Given the description of an element on the screen output the (x, y) to click on. 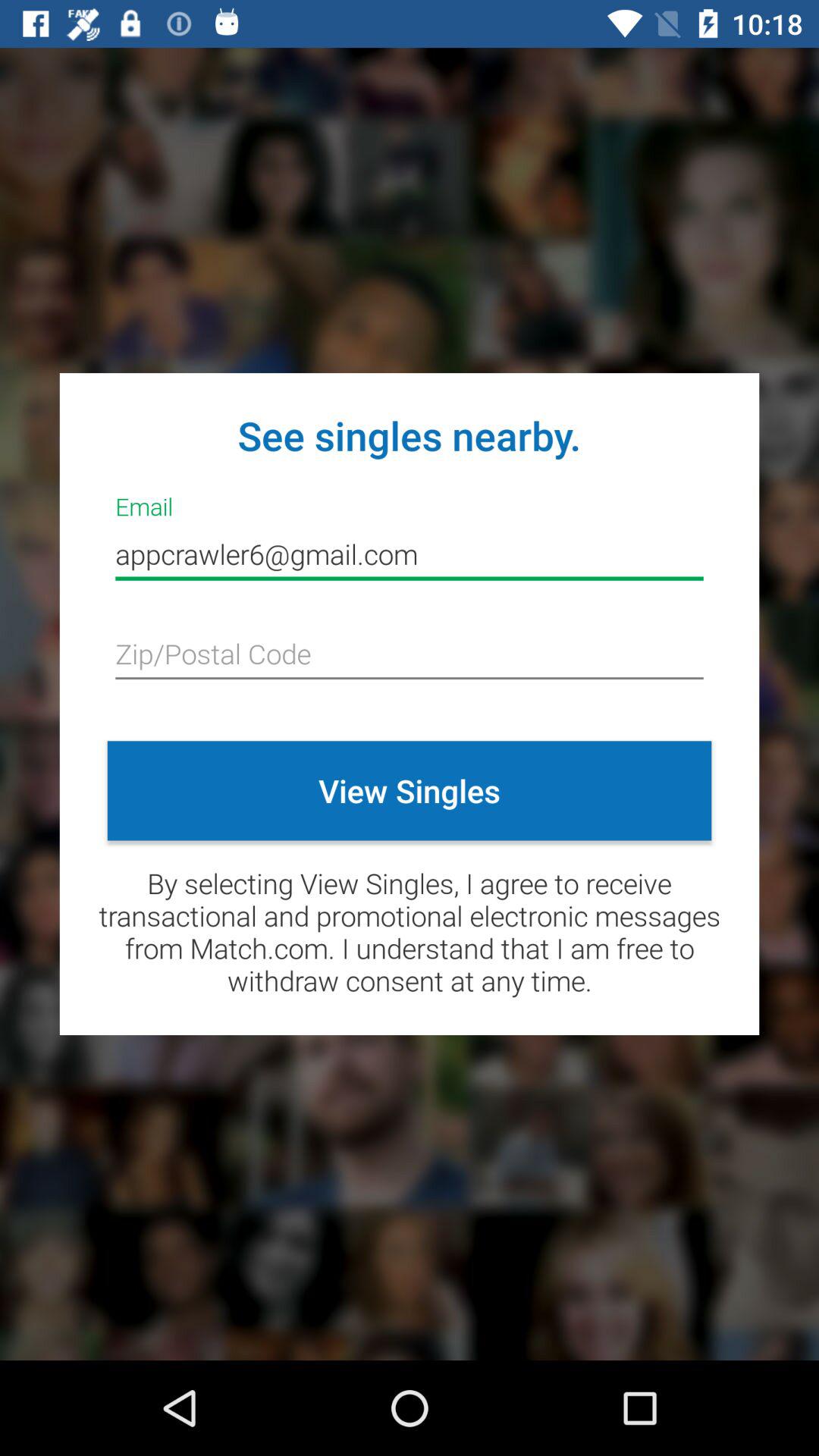
enter zip code (409, 655)
